Given the description of an element on the screen output the (x, y) to click on. 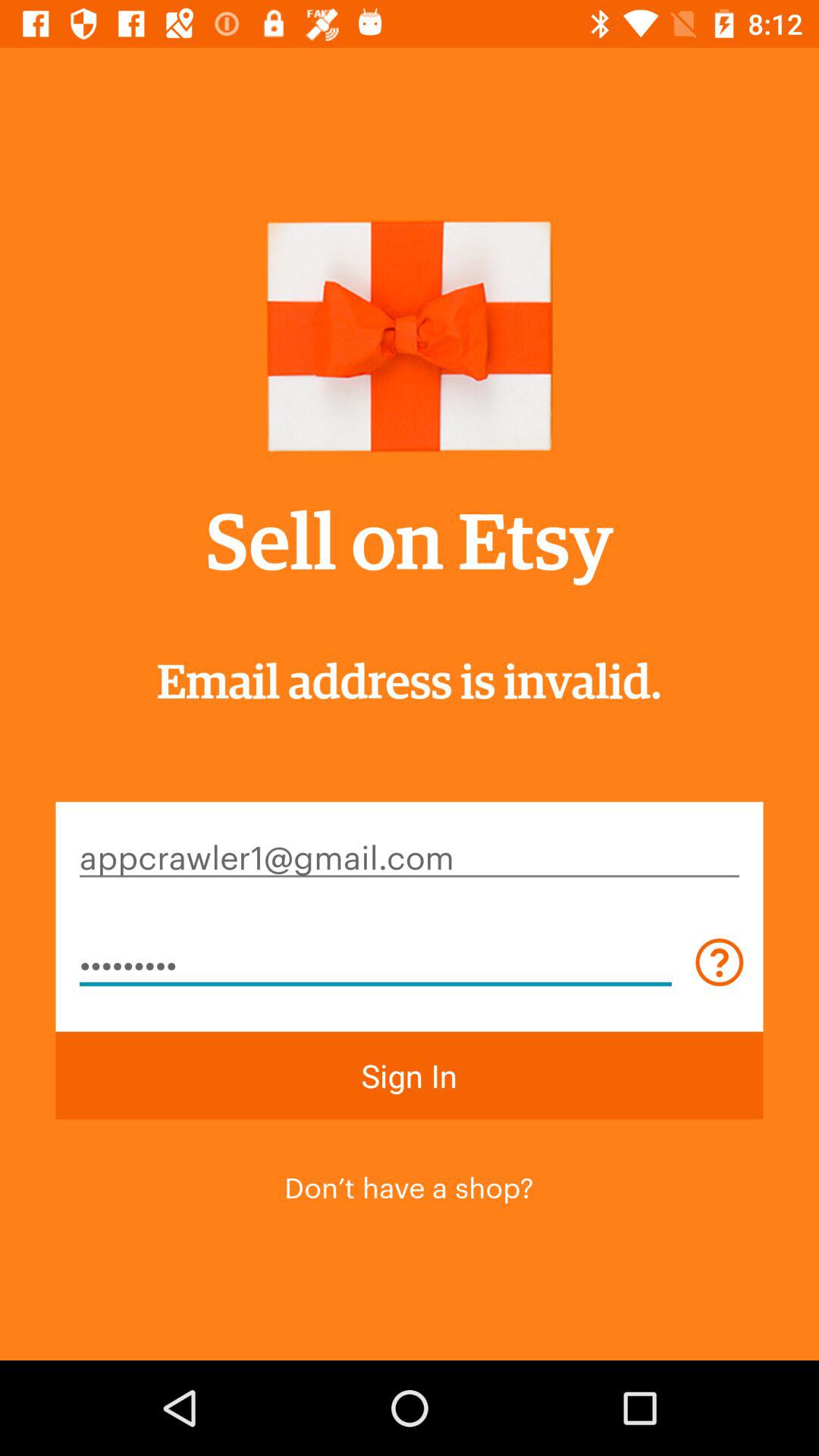
turn on appcrawler1@gmail.com icon (409, 854)
